Given the description of an element on the screen output the (x, y) to click on. 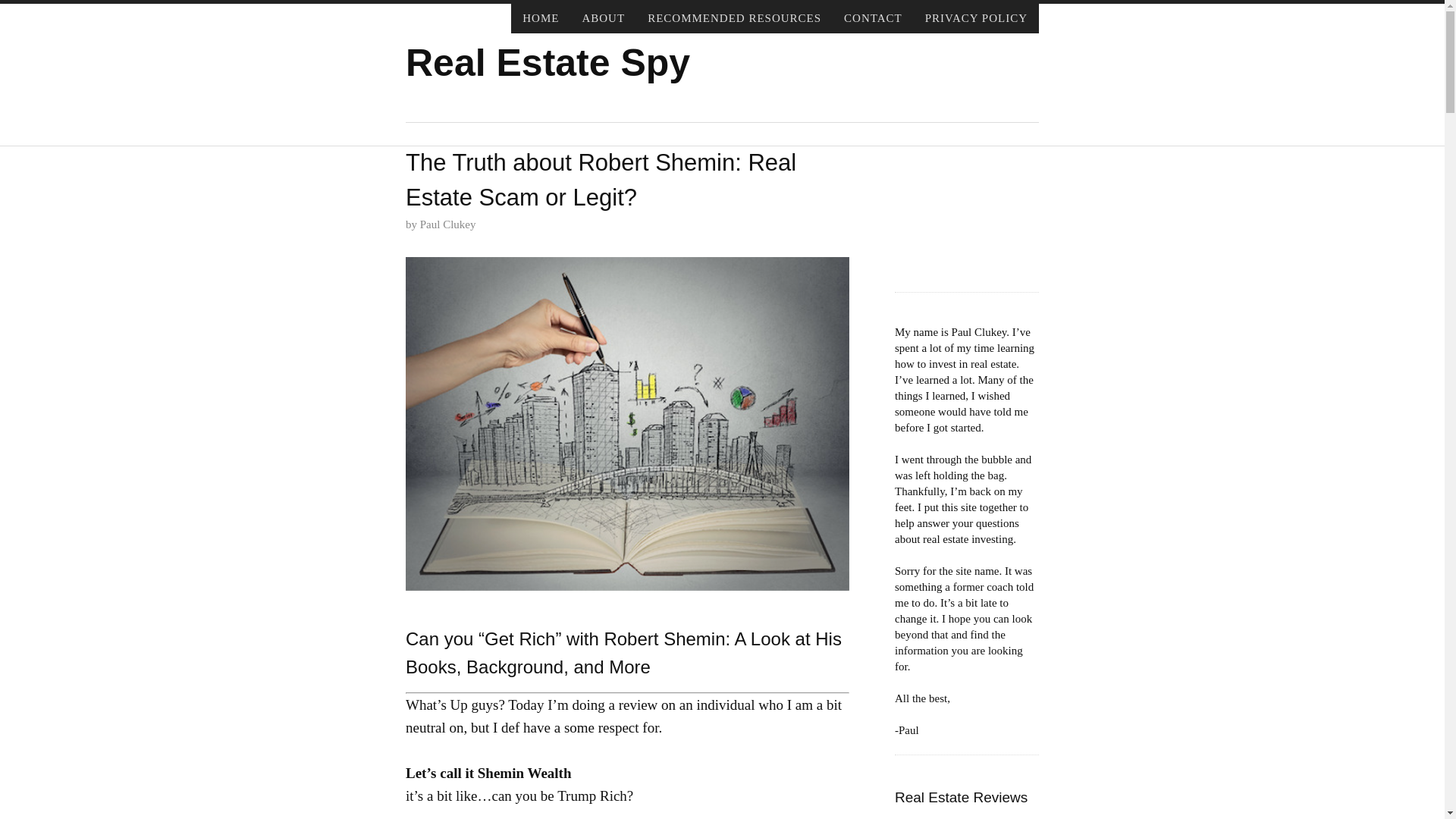
HOME (540, 18)
ABOUT (603, 18)
RECOMMENDED RESOURCES (734, 18)
CONTACT (873, 18)
PRIVACY POLICY (976, 18)
